Given the description of an element on the screen output the (x, y) to click on. 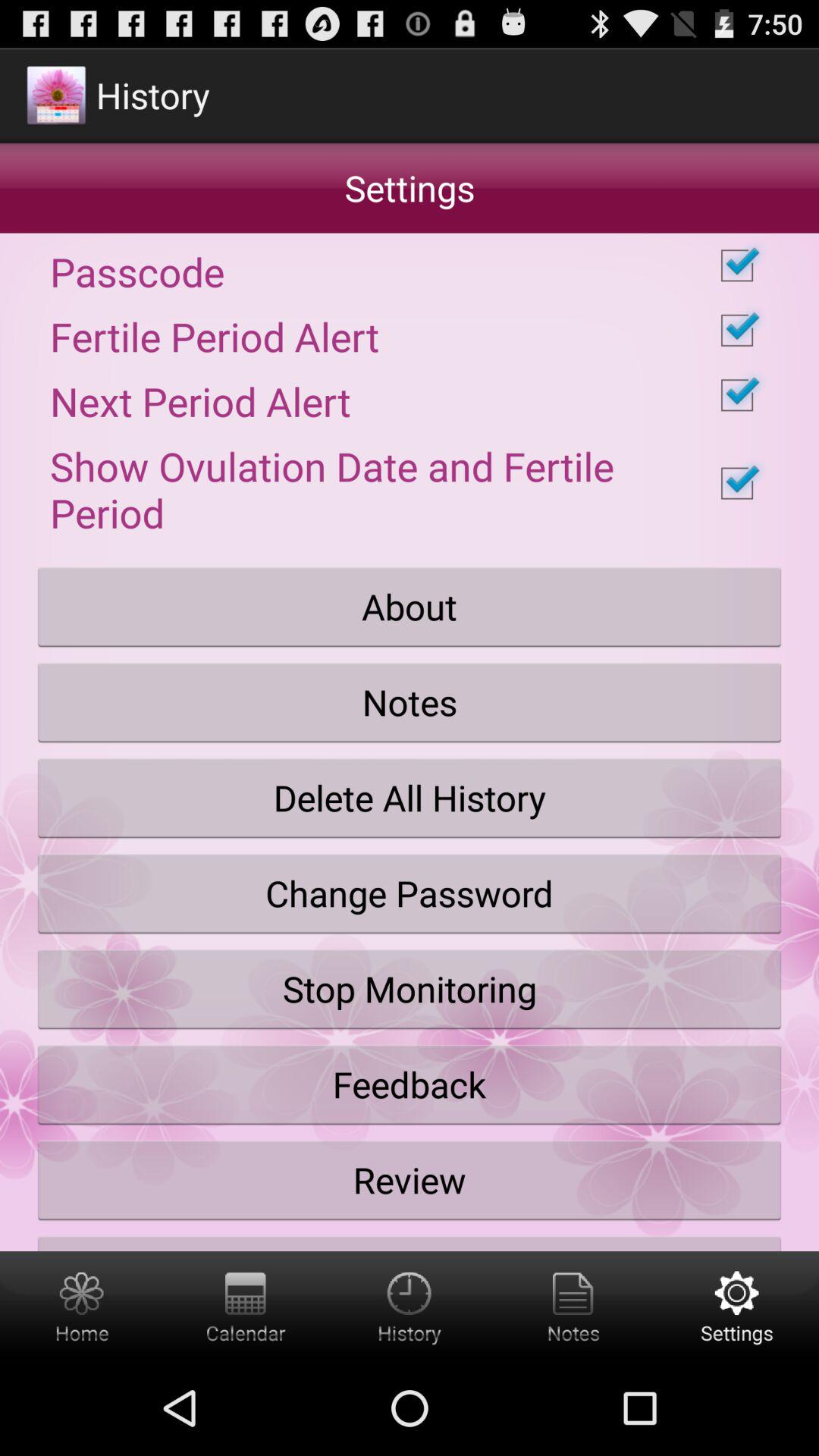
turn off the icon above the about button (409, 483)
